Given the description of an element on the screen output the (x, y) to click on. 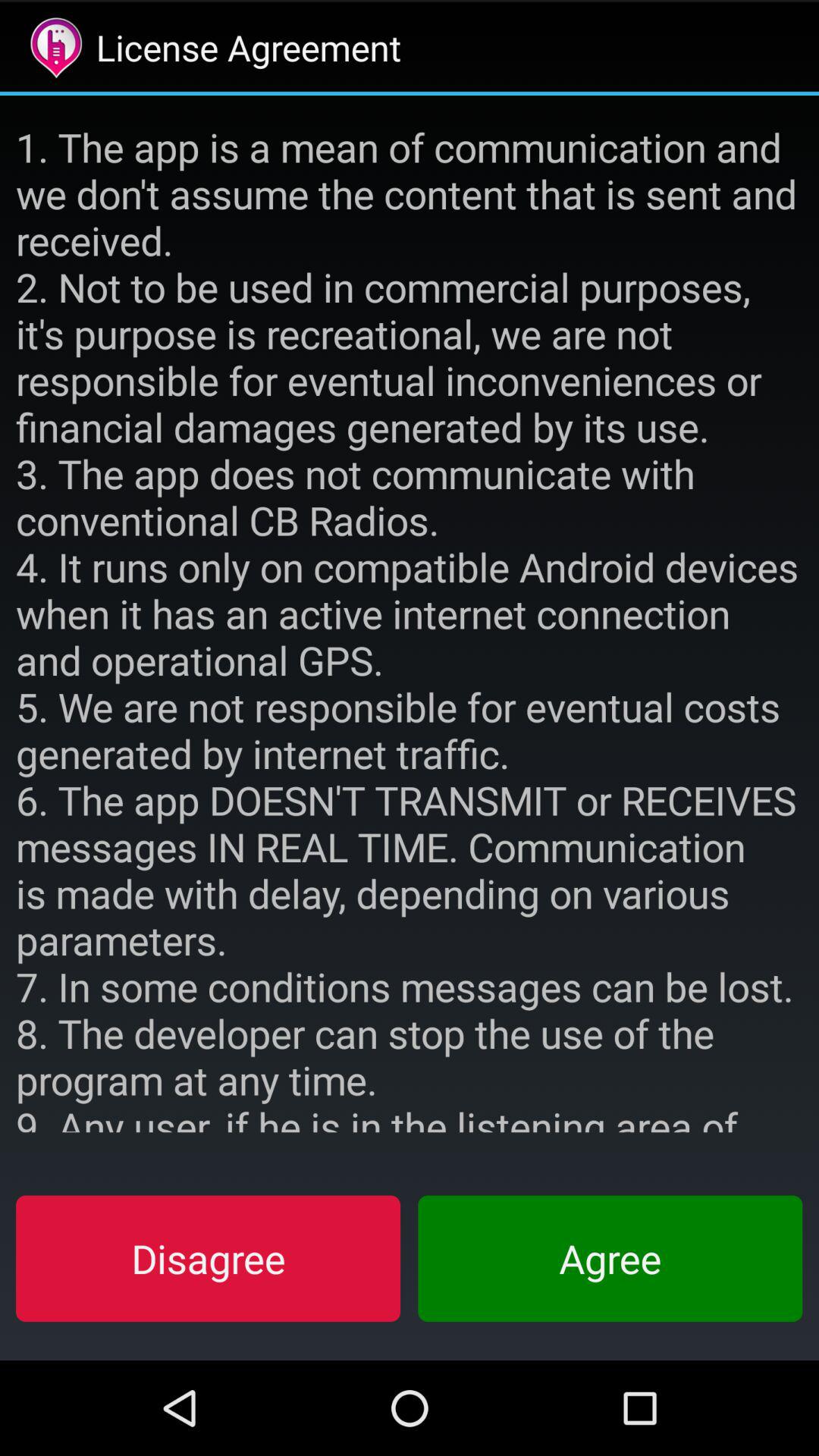
swipe until the agree button (610, 1258)
